Given the description of an element on the screen output the (x, y) to click on. 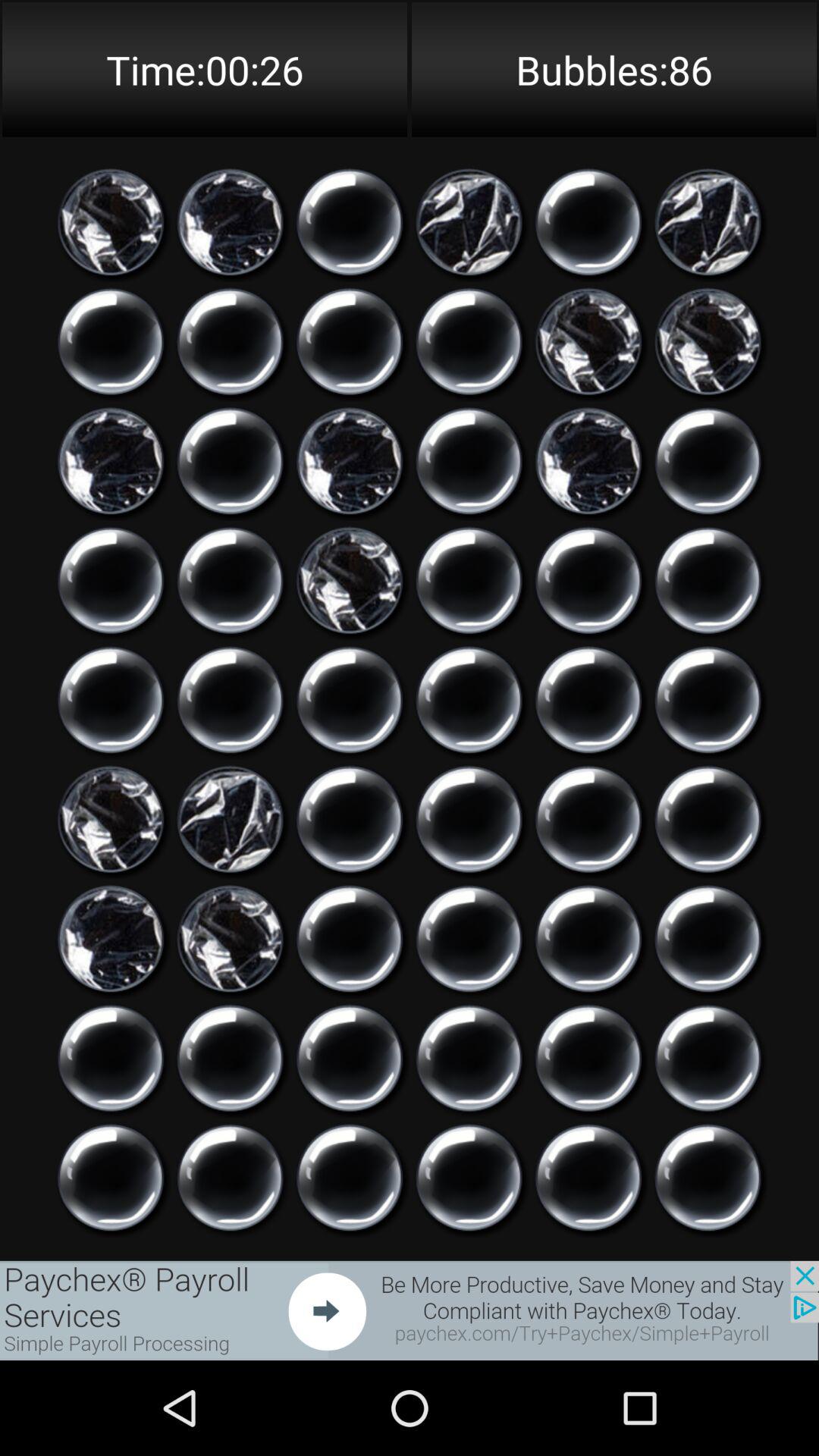
click on icon (110, 699)
